Given the description of an element on the screen output the (x, y) to click on. 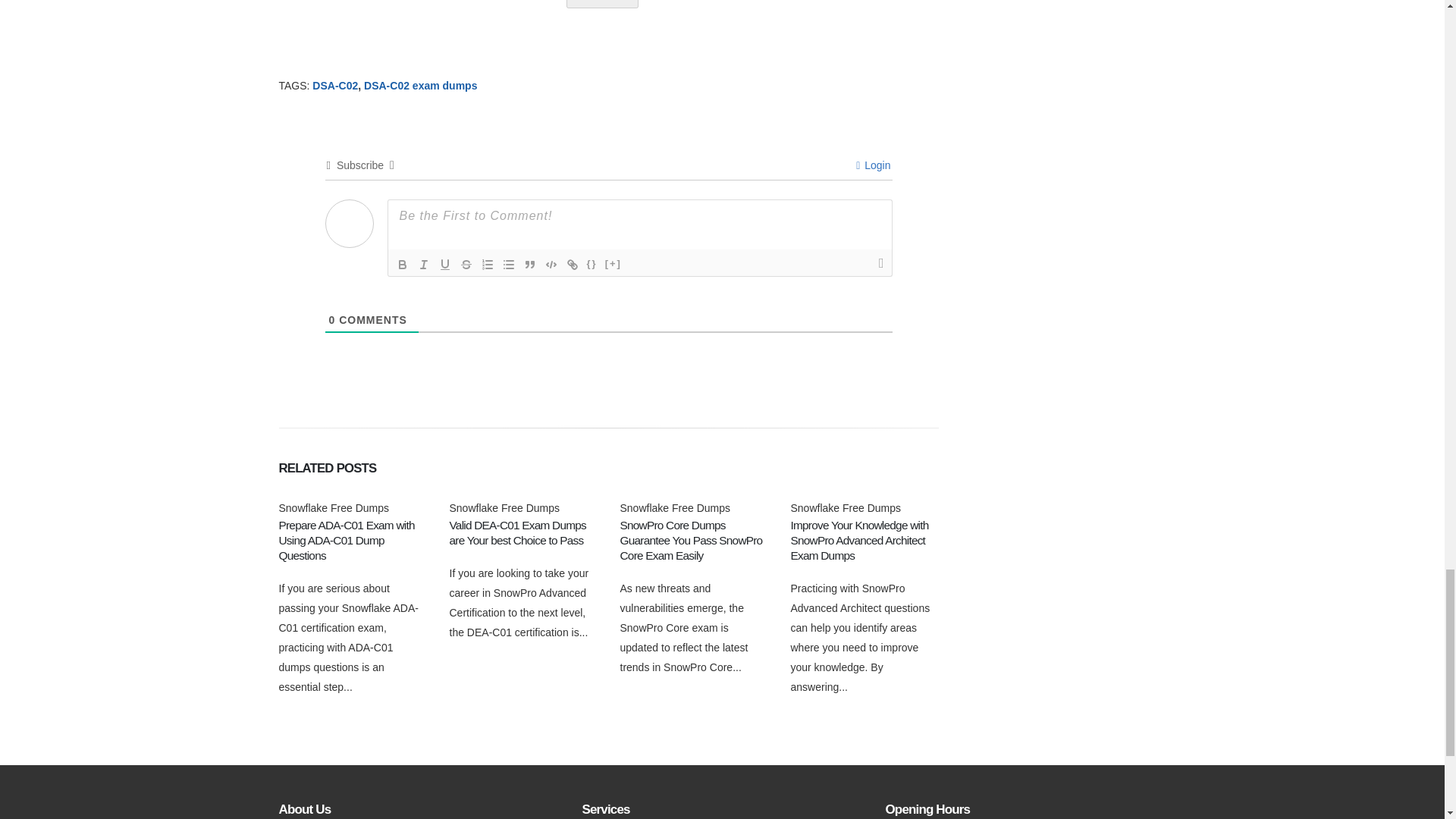
Login (872, 164)
DSA-C02 exam dumps (420, 85)
DSA-C02 (335, 85)
